Given the description of an element on the screen output the (x, y) to click on. 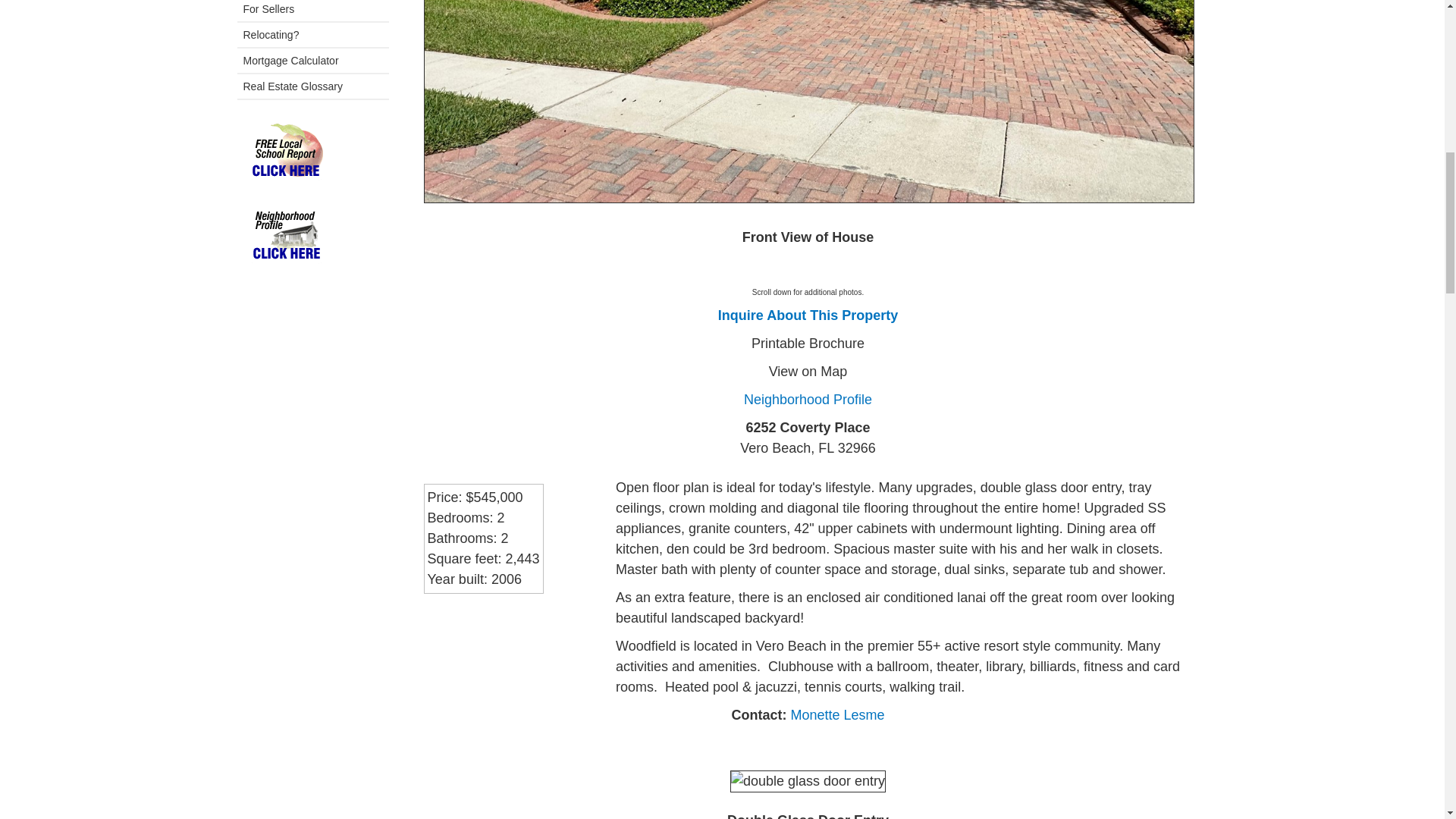
For Sellers (311, 11)
Relocating? (311, 35)
Mortgage Calculator (311, 61)
Real Estate Glossary (311, 86)
Facebook like button (475, 631)
Inquire About This Property (807, 314)
